Given the description of an element on the screen output the (x, y) to click on. 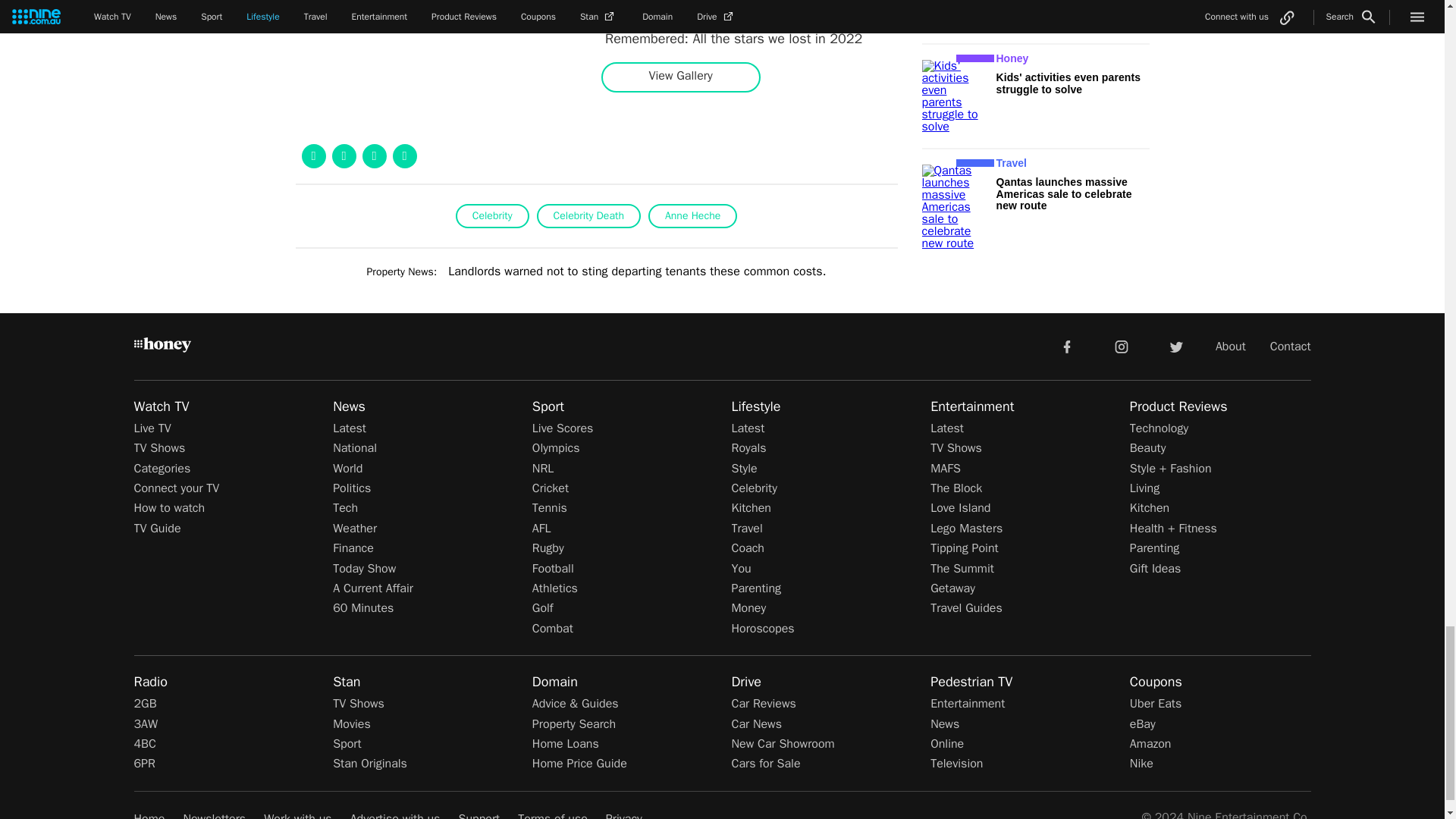
twitter (1175, 345)
facebook (1066, 345)
instagram (1121, 345)
